Given the description of an element on the screen output the (x, y) to click on. 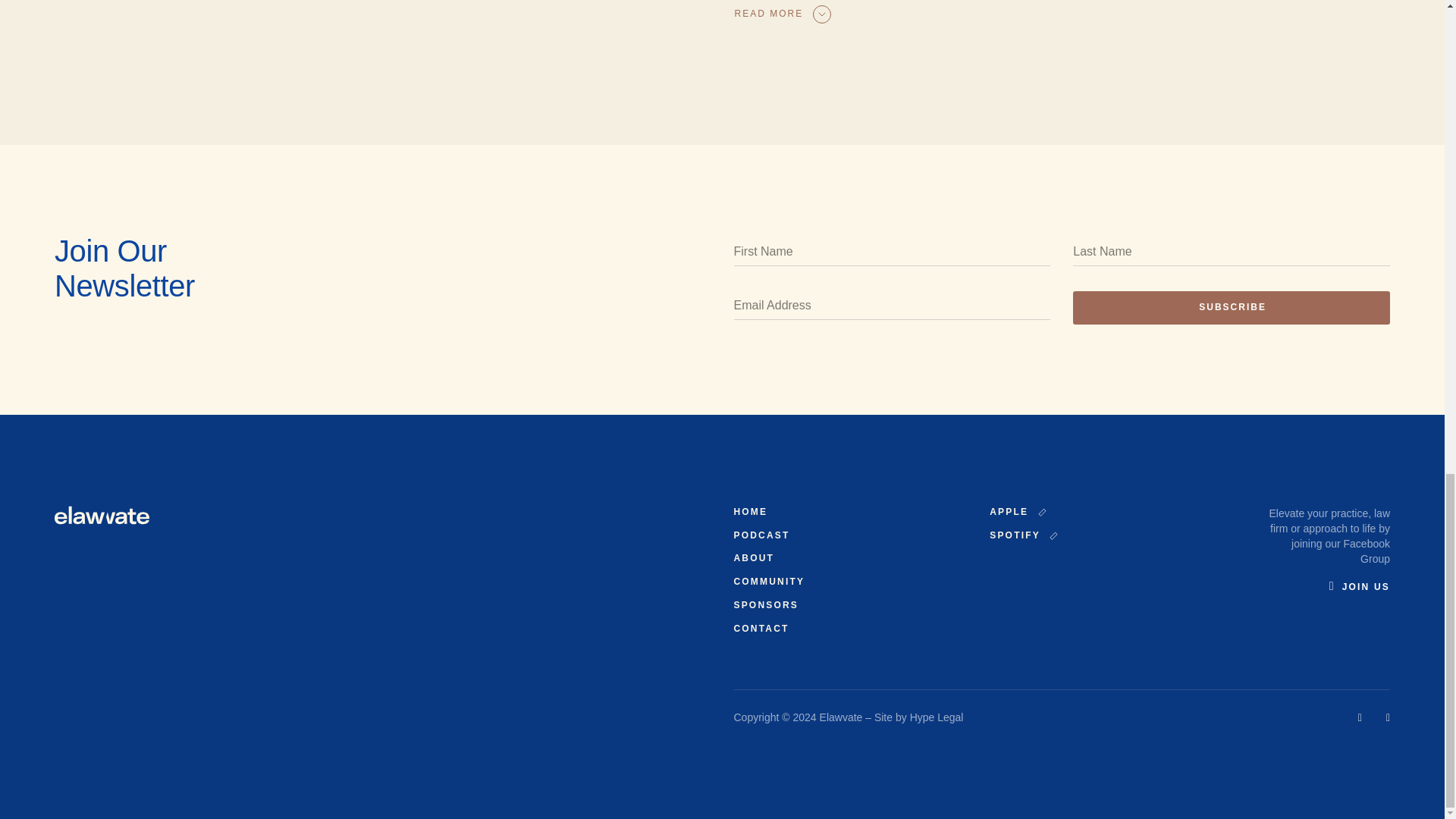
APPLE (1016, 512)
READ MORE (781, 13)
PODCAST (761, 534)
SPOTIFY (1023, 535)
HOME (750, 511)
ABOUT (753, 557)
SPONSORS (765, 604)
Hype Legal (936, 717)
JOIN US (1359, 586)
CONTACT (761, 628)
